Given the description of an element on the screen output the (x, y) to click on. 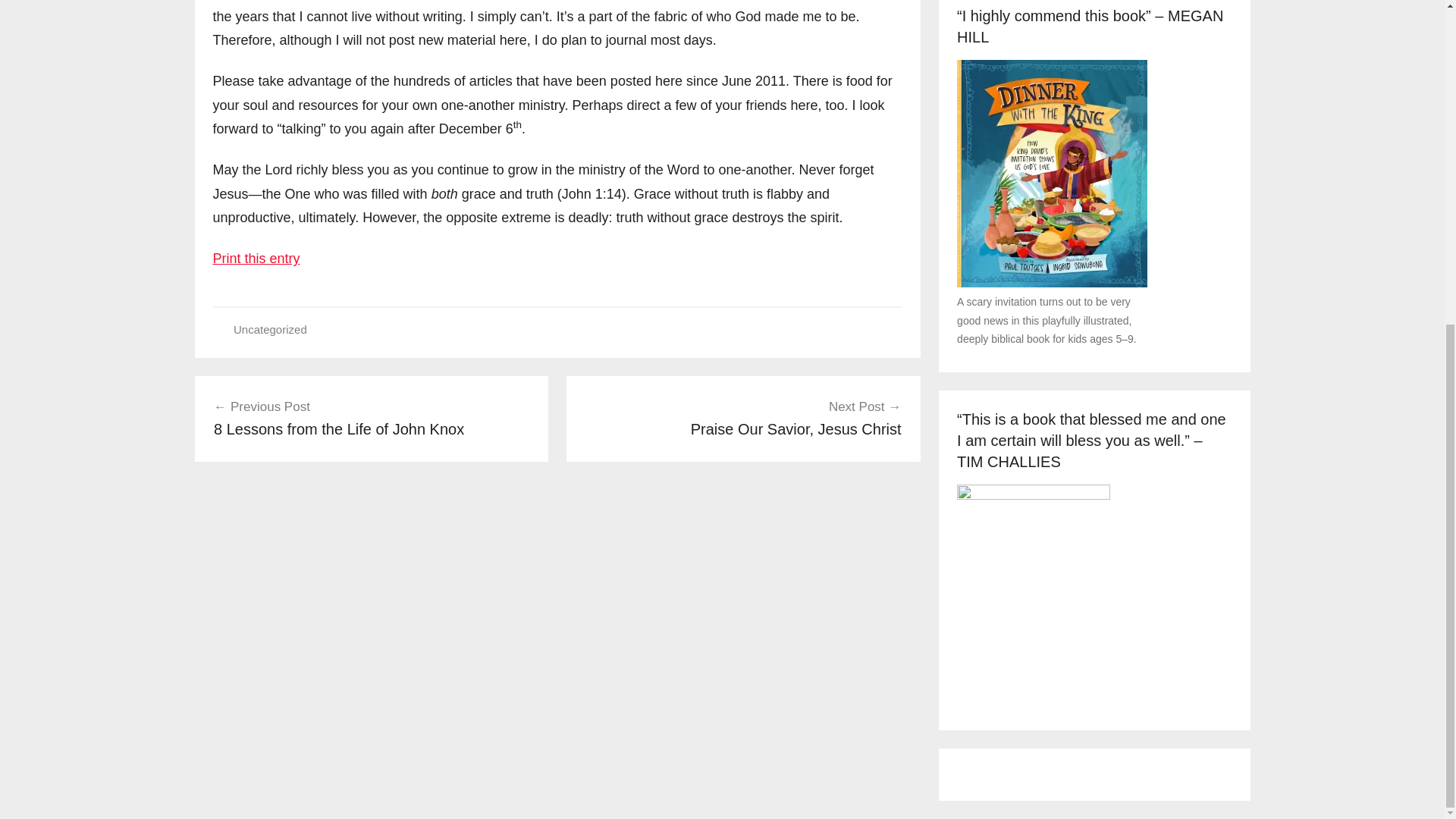
Uncategorized (269, 328)
Print this entry (255, 258)
